Given the description of an element on the screen output the (x, y) to click on. 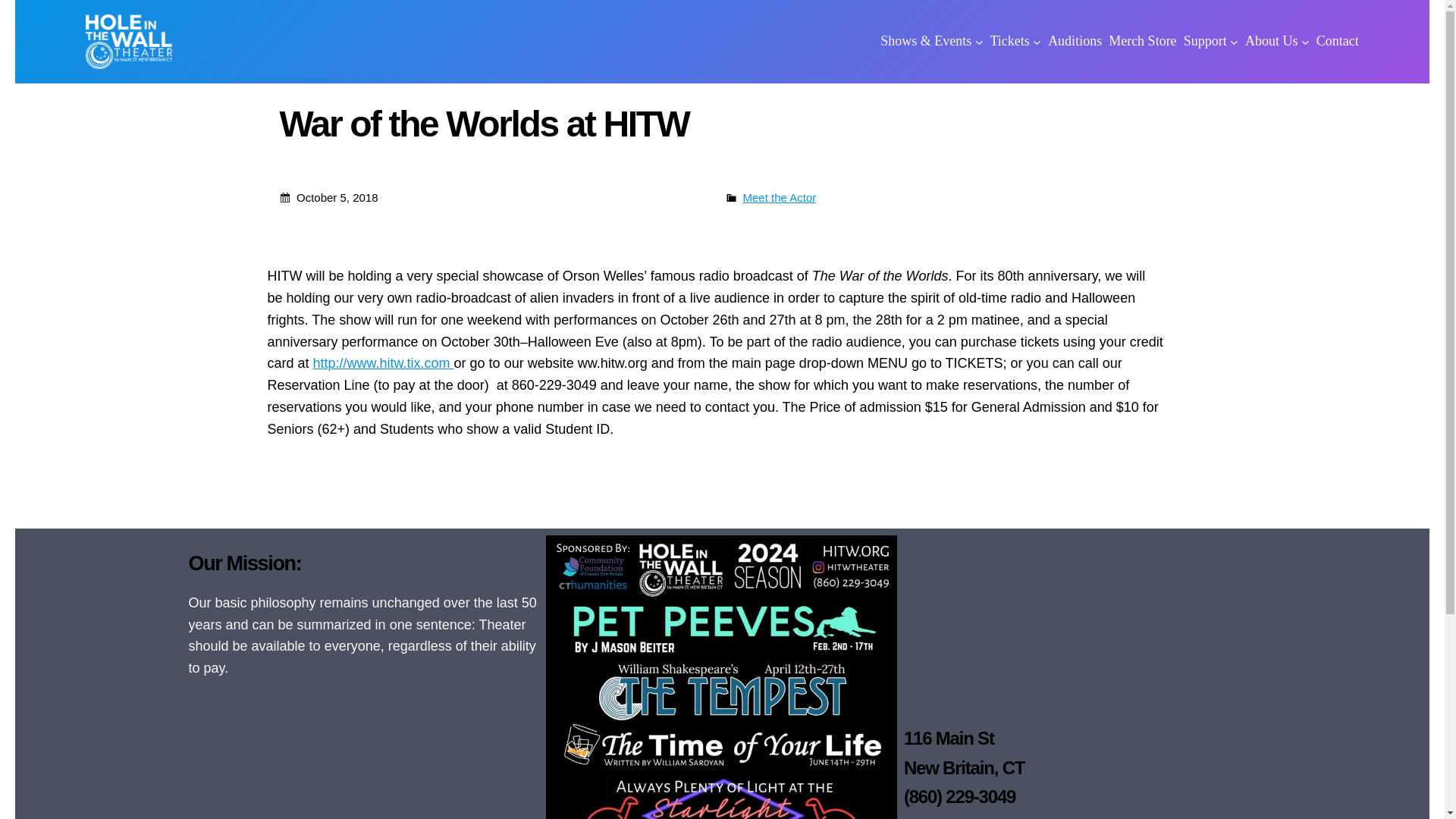
Merch Store (1142, 41)
About Us (1271, 41)
Auditions (1075, 41)
Contact (1337, 41)
Meet the Actor (779, 196)
Tickets (1009, 41)
Support (1205, 41)
